Given the description of an element on the screen output the (x, y) to click on. 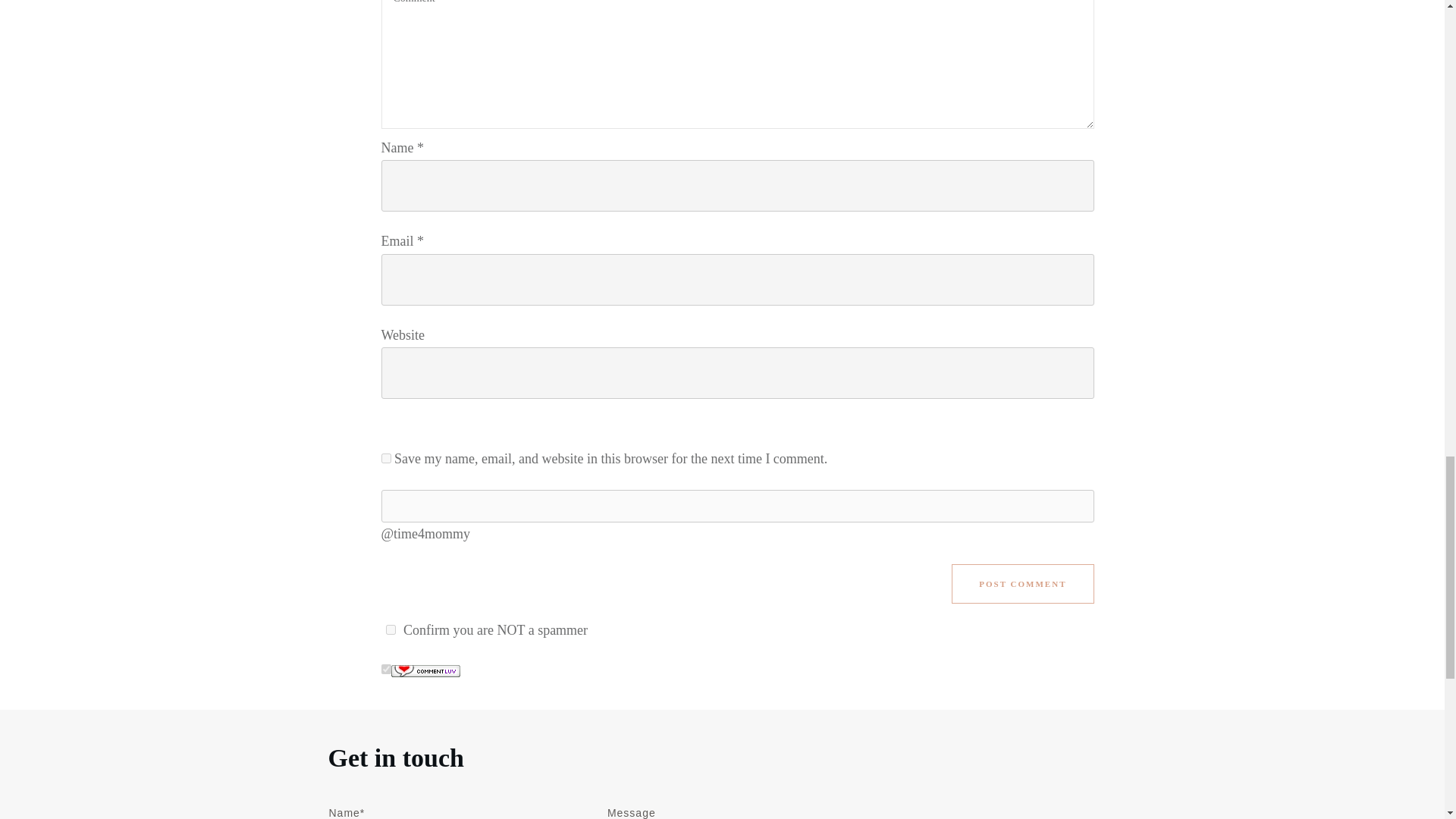
on (389, 629)
yes (385, 458)
CommentLuv is enabled (425, 669)
on (385, 669)
